Given the description of an element on the screen output the (x, y) to click on. 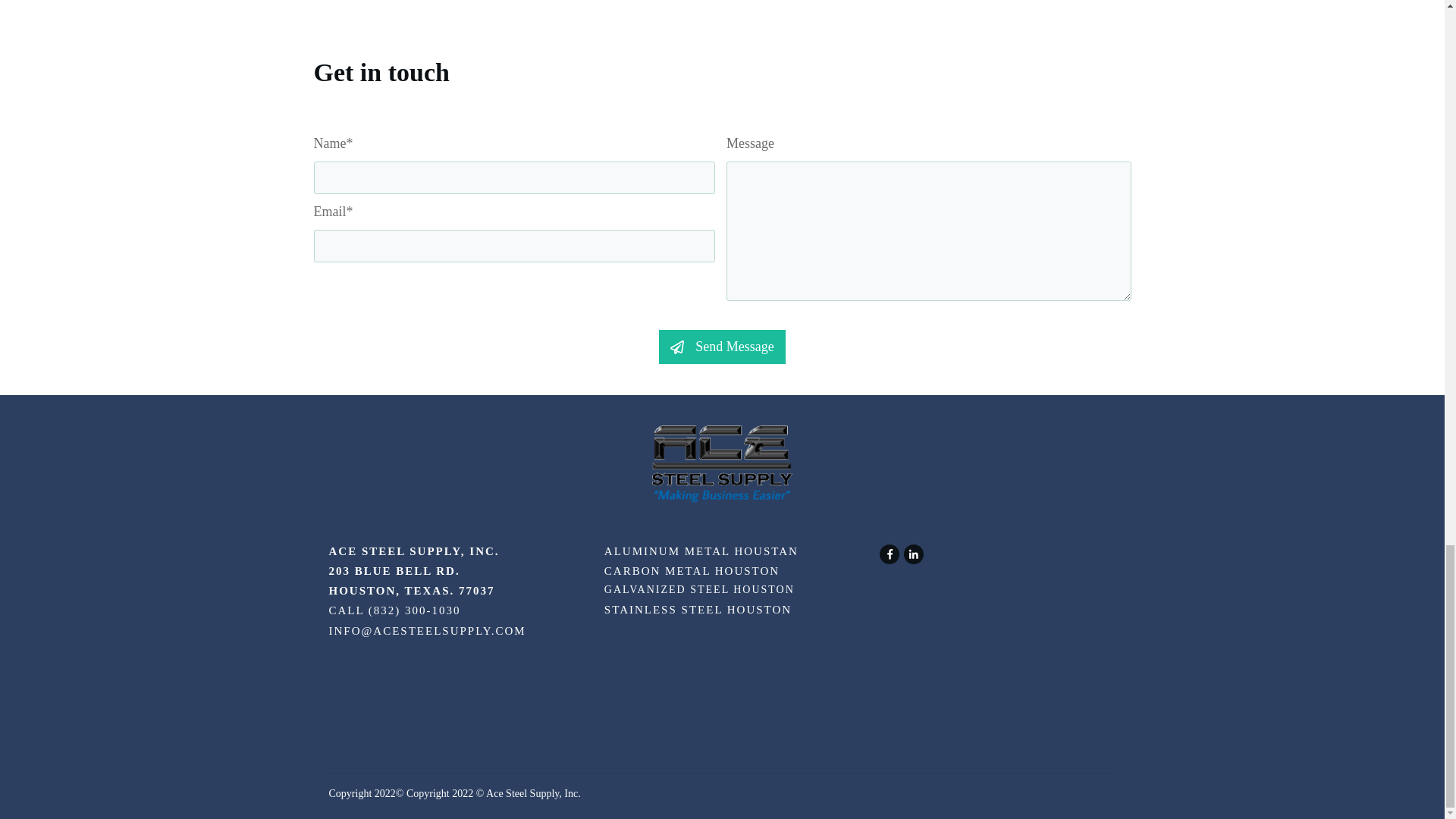
Send Message (721, 347)
STAINLESS STEEL HOUSTON (698, 609)
GALVANIZED STEEL HOUSTON (699, 589)
Google Map (992, 662)
CARBON METAL HOUSTON (691, 571)
ALUMINUM METAL HOUSTAN (700, 551)
